Given the description of an element on the screen output the (x, y) to click on. 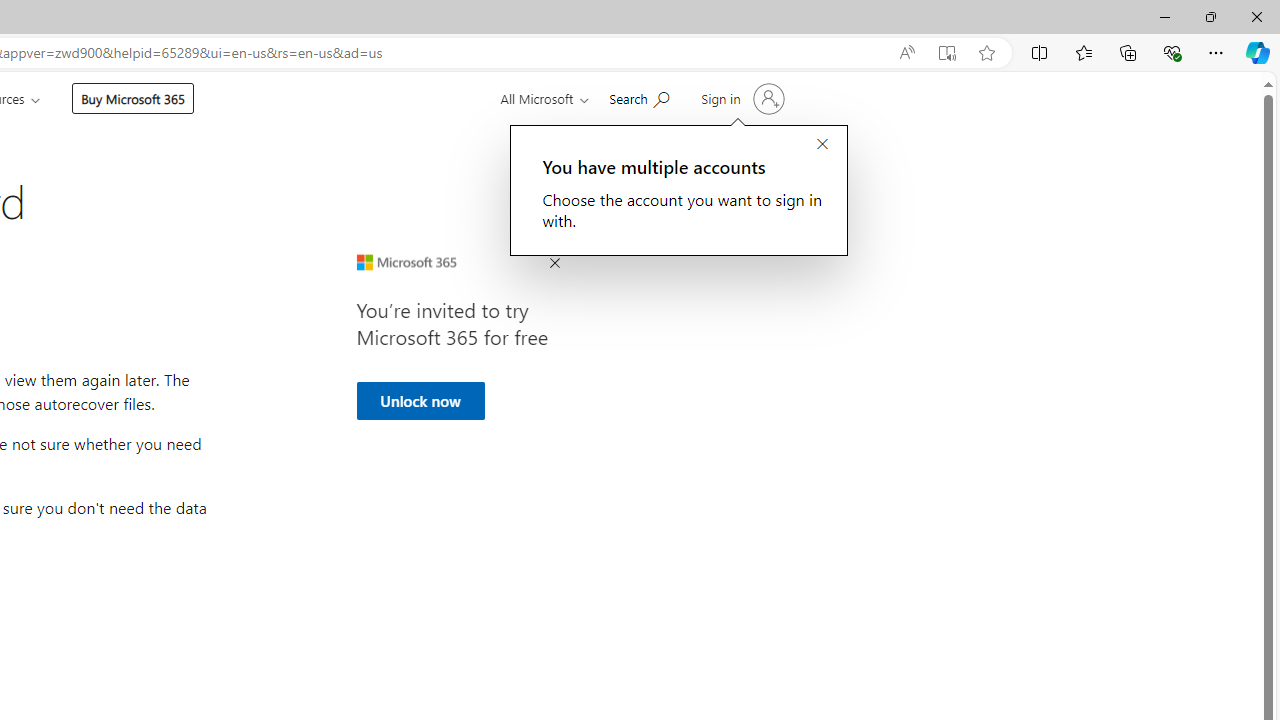
Settings and more (Alt+F) (1215, 52)
Browser essentials (1171, 52)
Collections (1128, 52)
Enter Immersive Reader (F9) (946, 53)
Unlock now (420, 399)
Close callout prompt. (822, 145)
